Given the description of an element on the screen output the (x, y) to click on. 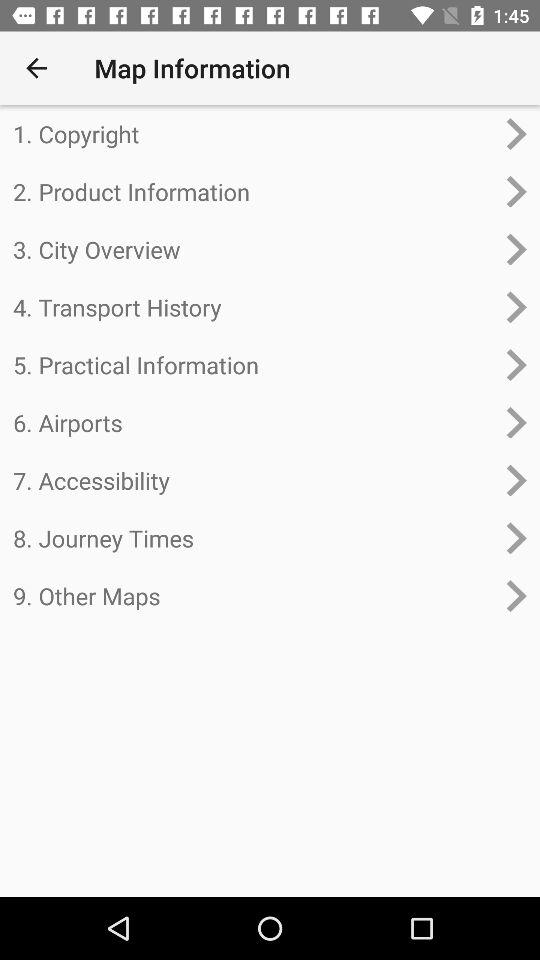
swipe to 4. transport history icon (253, 307)
